Given the description of an element on the screen output the (x, y) to click on. 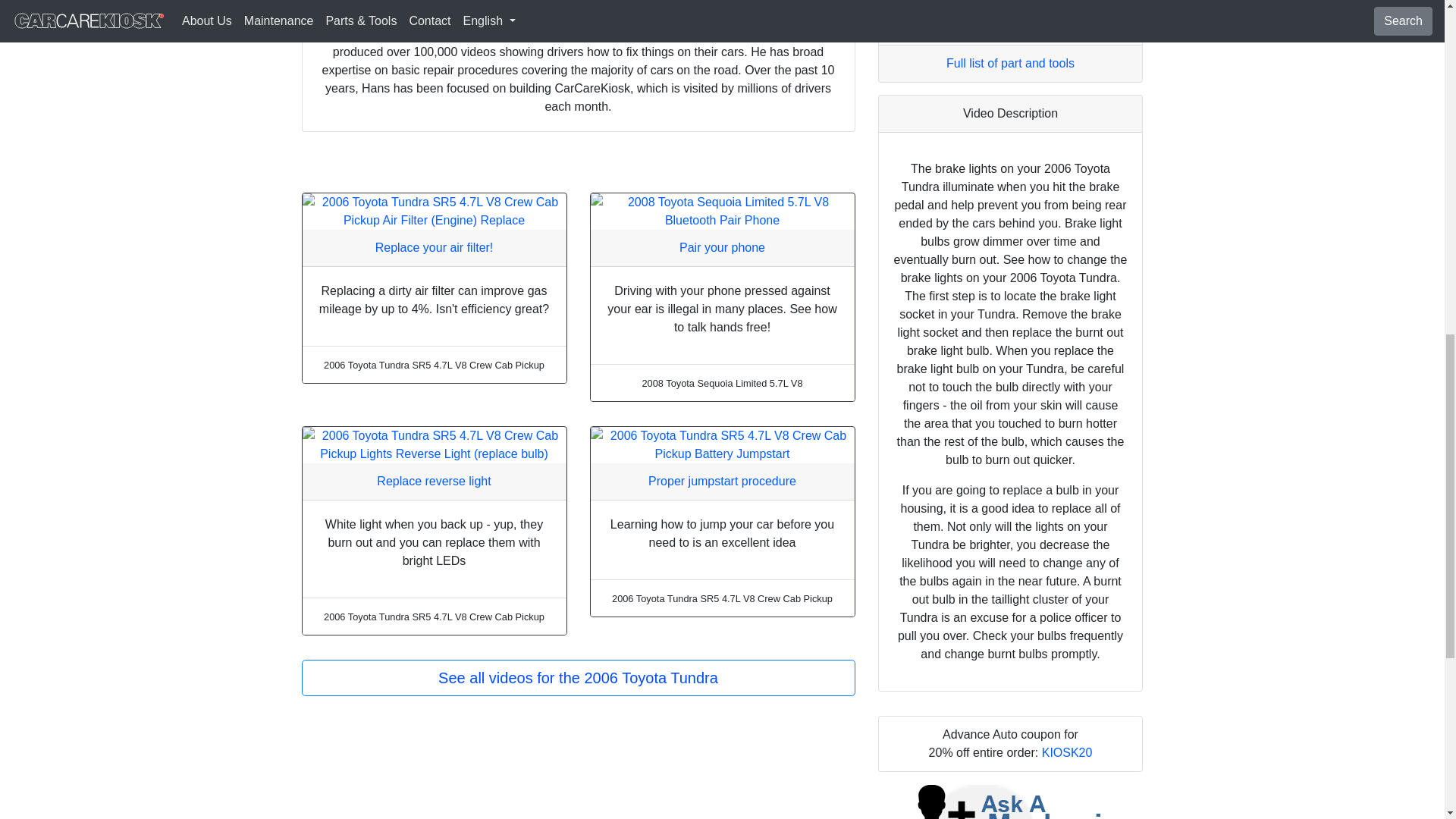
Replace reverse light (433, 481)
Hans Angermeier (390, 33)
Proper jumpstart procedure (721, 481)
See all videos for the 2006 Toyota Tundra (578, 678)
Replace your air filter! (434, 246)
Pair your phone (722, 246)
